Given the description of an element on the screen output the (x, y) to click on. 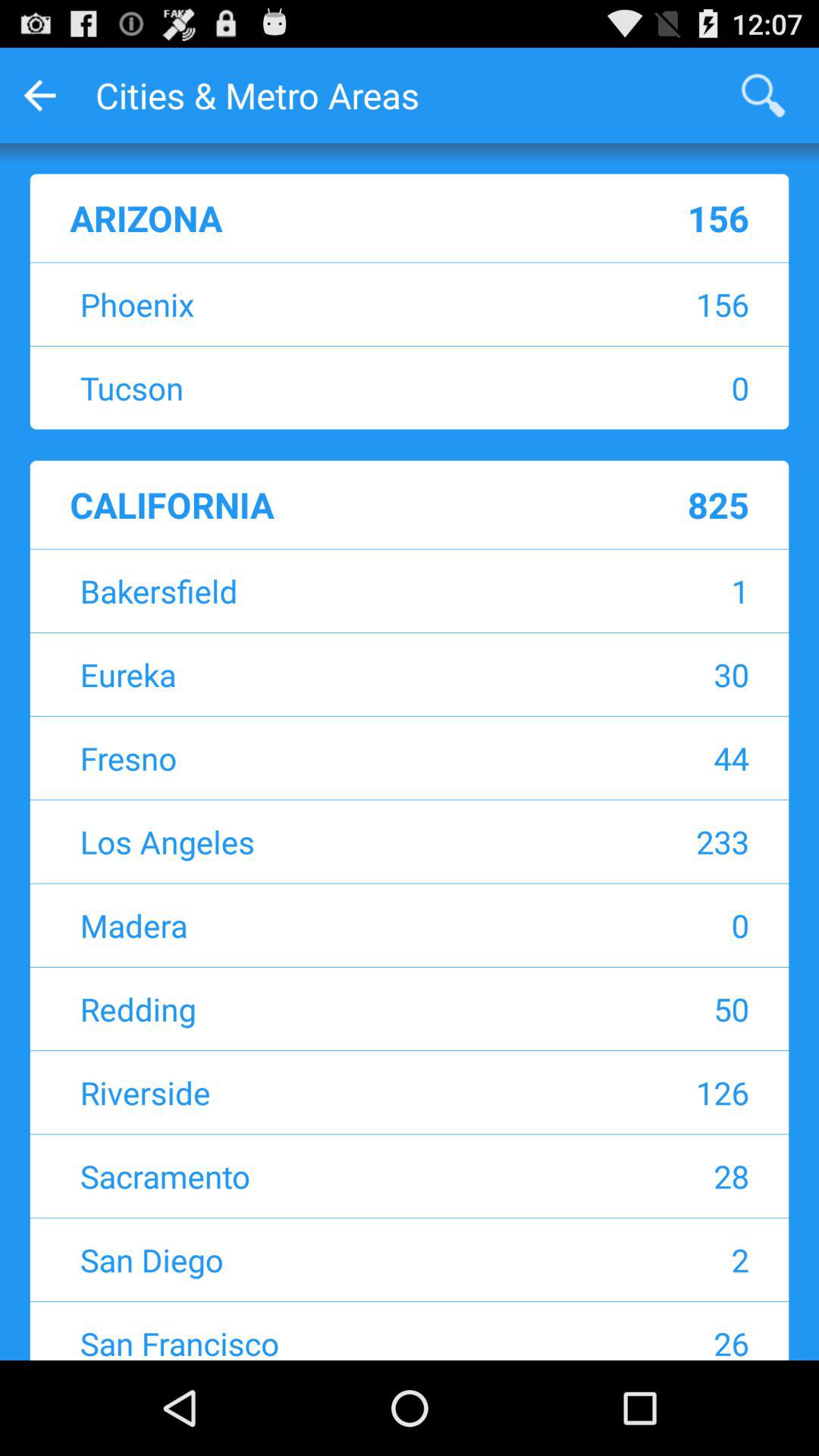
turn on icon next to cities & metro areas app (763, 95)
